Given the description of an element on the screen output the (x, y) to click on. 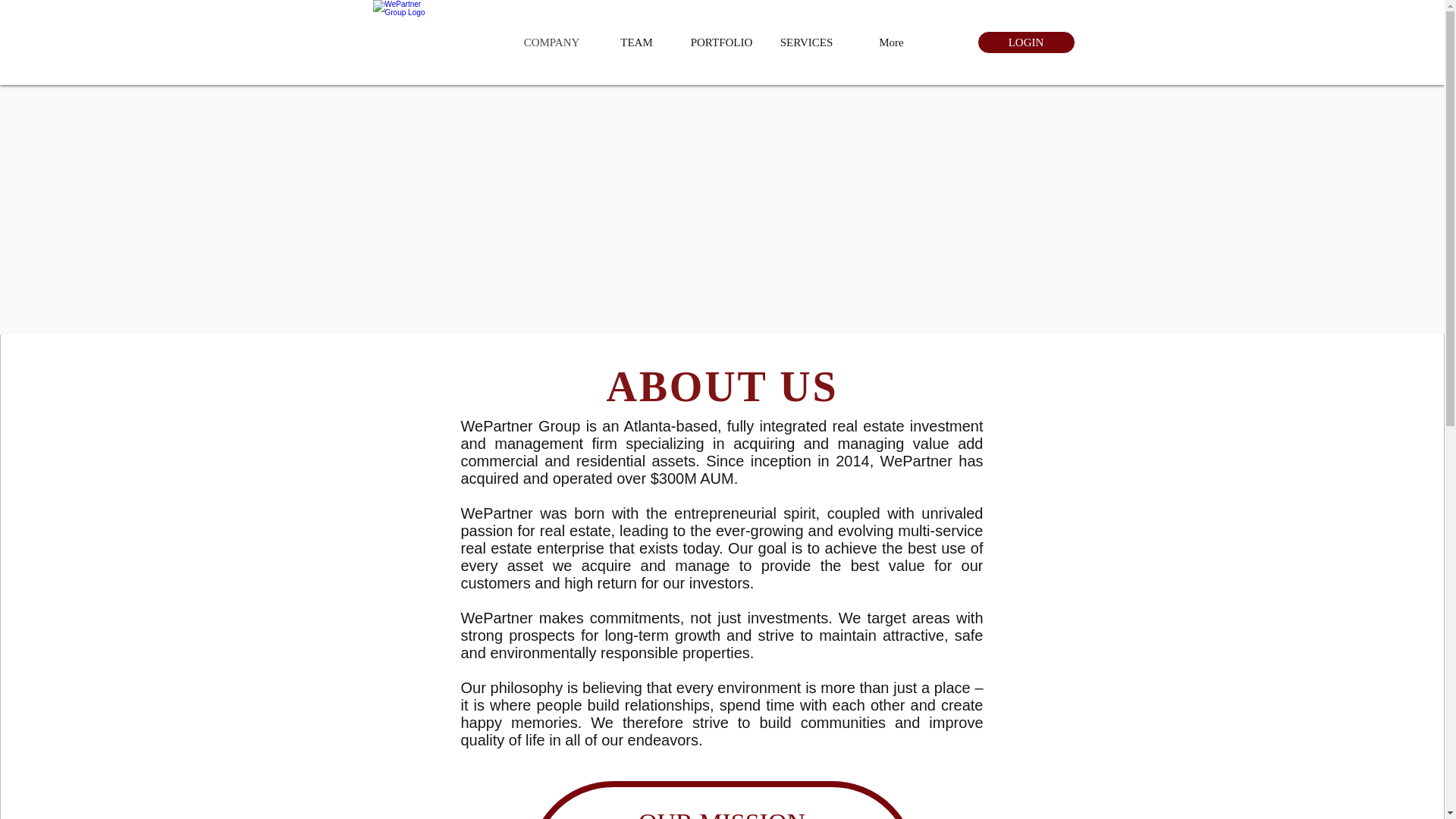
LOGIN (1025, 42)
COMPANY (551, 42)
TEAM (636, 42)
SERVICES (806, 42)
